Given the description of an element on the screen output the (x, y) to click on. 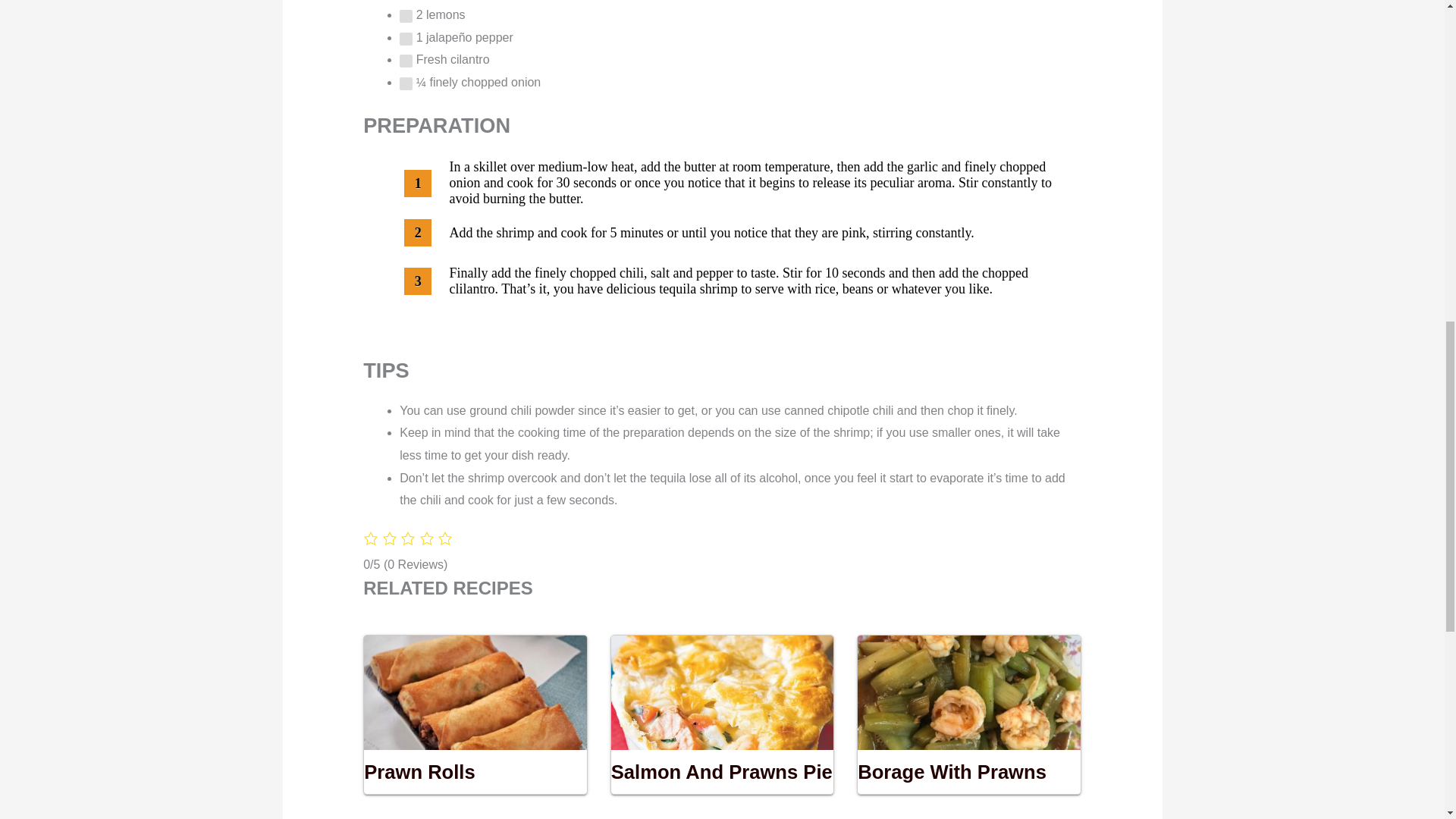
on (405, 83)
on (405, 38)
on (405, 60)
on (405, 15)
